Given the description of an element on the screen output the (x, y) to click on. 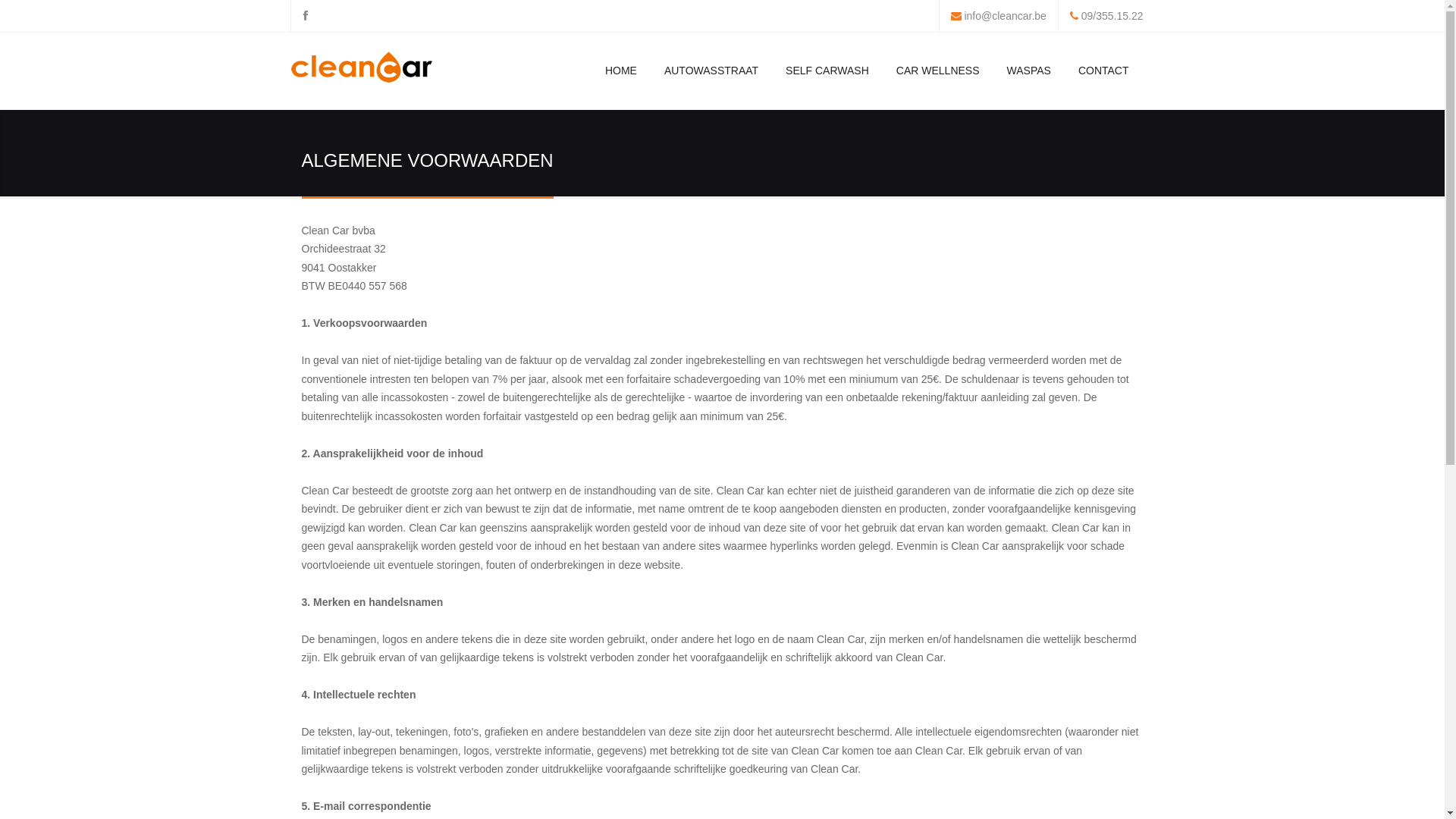
CAR WELLNESS Element type: text (937, 70)
SELF CARWASH Element type: text (826, 70)
WASPAS Element type: text (1028, 70)
CONTACT Element type: text (1103, 70)
AUTOWASSTRAAT Element type: text (710, 70)
HOME Element type: text (620, 70)
info@cleancar.be Element type: text (1004, 15)
Facebook Element type: hover (304, 15)
